Given the description of an element on the screen output the (x, y) to click on. 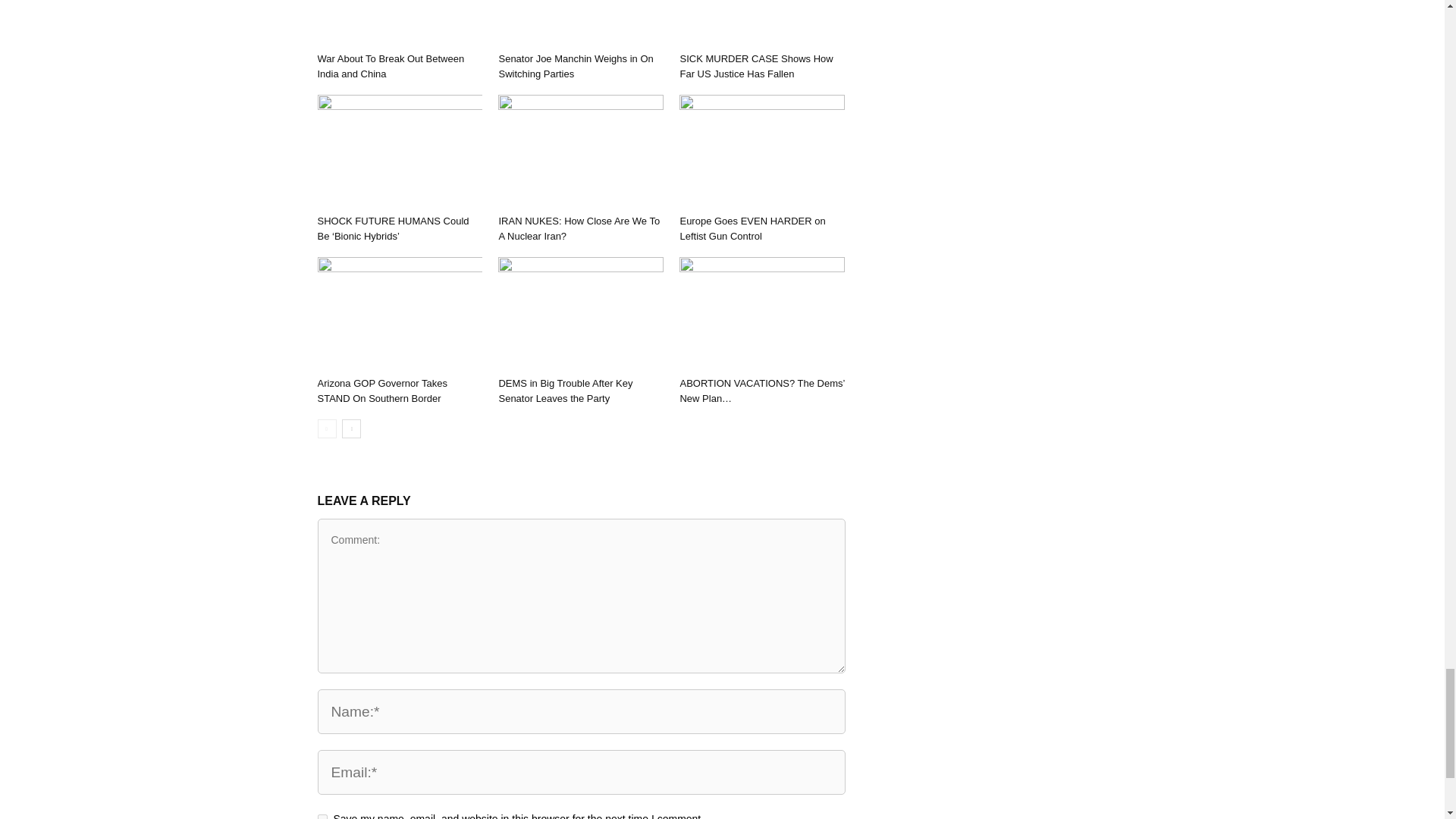
War About To Break Out Between India and China (390, 66)
yes (321, 816)
IRAN NUKES: How Close Are We To A Nuclear Iran? (580, 151)
SICK MURDER CASE Shows How Far US Justice Has Fallen (755, 66)
Senator Joe Manchin Weighs in On Switching Parties (580, 22)
SICK MURDER CASE Shows How Far US Justice Has Fallen (761, 22)
IRAN NUKES: How Close Are We To A Nuclear Iran? (578, 228)
War About To Break Out Between India and China (399, 22)
Senator Joe Manchin Weighs in On Switching Parties (574, 66)
